Given the description of an element on the screen output the (x, y) to click on. 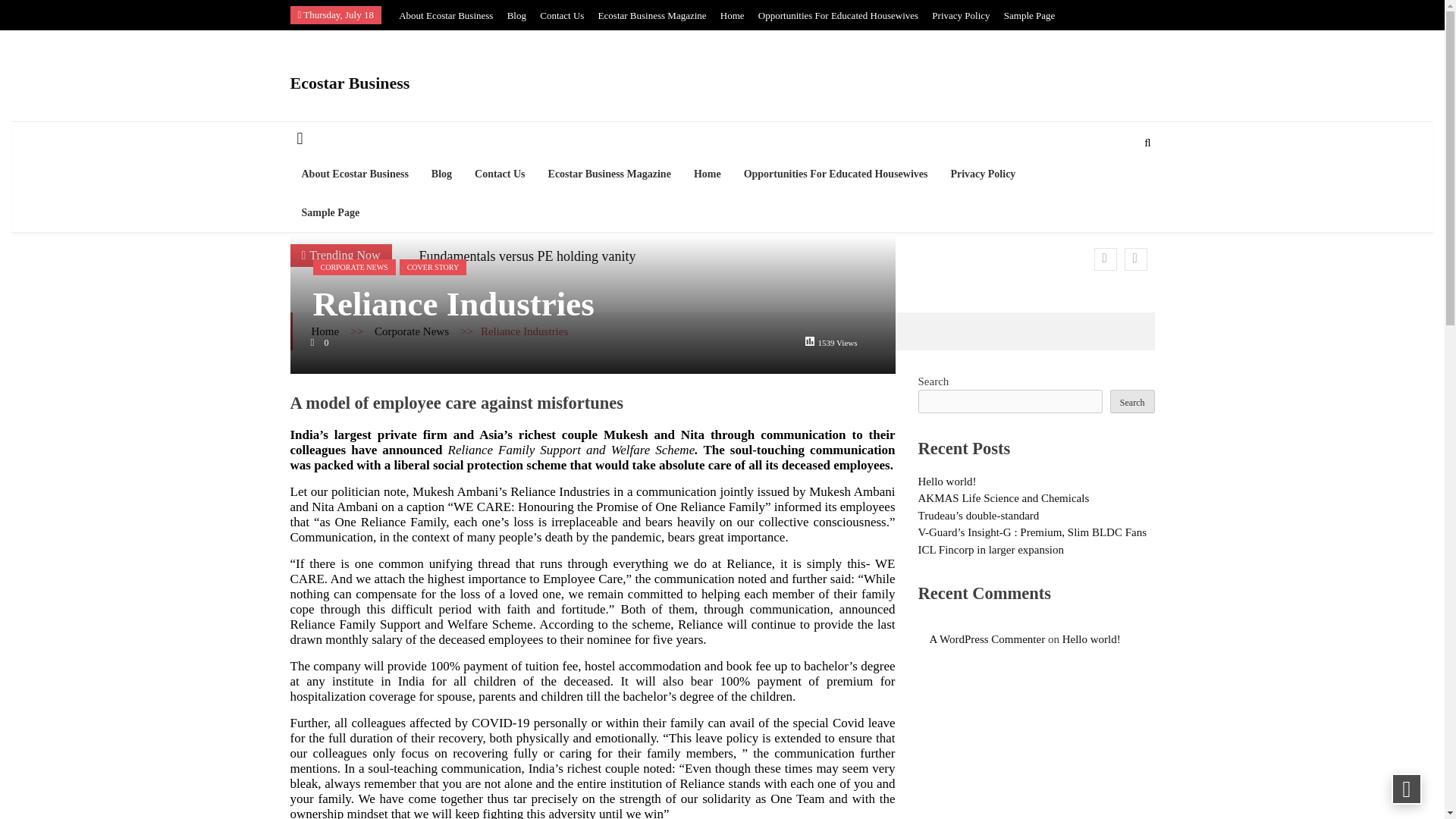
Ecostar Business Magazine (609, 173)
Blog (441, 173)
Fundamentals versus PE holding vanity (526, 255)
About Ecostar Business (354, 173)
About Ecostar Business (445, 15)
Ecostar Business Magazine (652, 15)
Home (732, 15)
Privacy Policy (982, 173)
Sample Page (330, 211)
Opportunities For Educated Housewives (835, 173)
Blog (515, 15)
Privacy Policy (960, 15)
Opportunities For Educated Housewives (838, 15)
Ecostar Business (427, 83)
Sample Page (1029, 15)
